Given the description of an element on the screen output the (x, y) to click on. 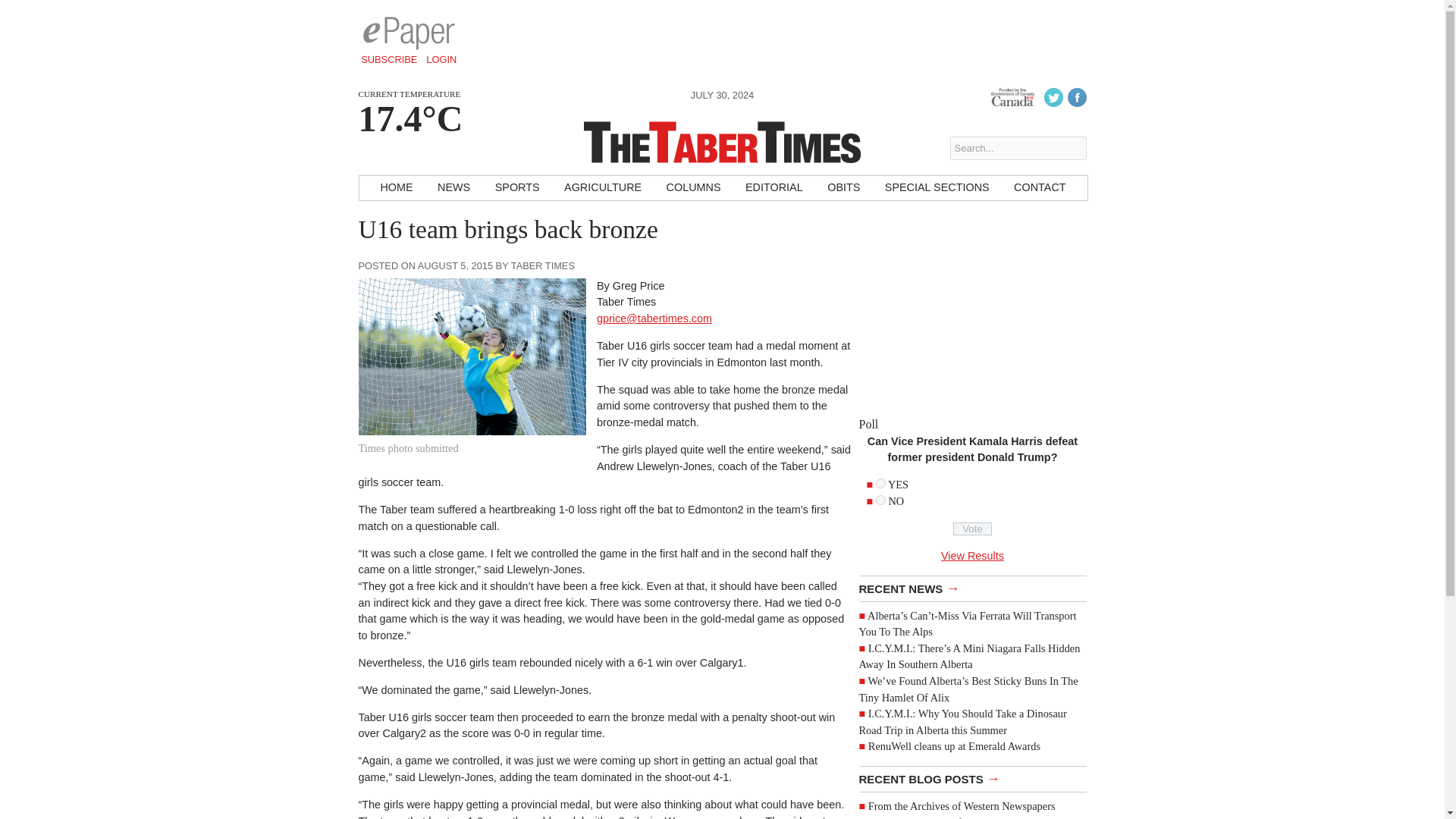
SPORTS (517, 187)
SPECIAL SECTIONS (937, 187)
EDITORIAL (774, 187)
HOME (396, 187)
COLUMNS (694, 187)
LOGIN (441, 58)
526 (880, 500)
RenuWell cleans up at Emerald Awards (954, 746)
OBITS (843, 187)
CONTACT (1039, 187)
AGRICULTURE (602, 187)
From the Archives of Western Newspapers (961, 817)
NEWS (453, 187)
   Vote    (972, 528)
